Given the description of an element on the screen output the (x, y) to click on. 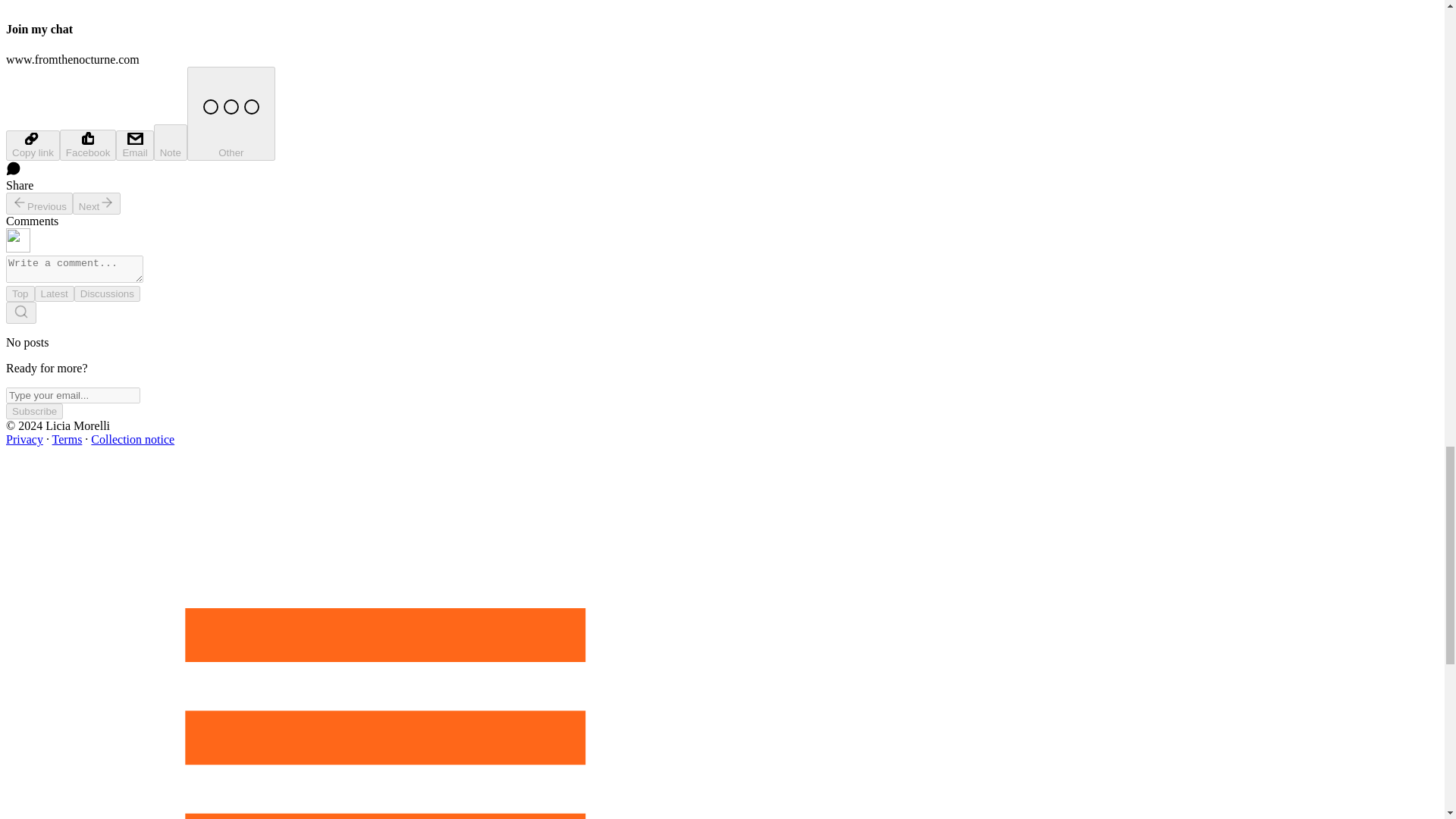
Other (231, 113)
Email (134, 145)
Copy link (32, 145)
Facebook (87, 144)
Note (170, 142)
